Given the description of an element on the screen output the (x, y) to click on. 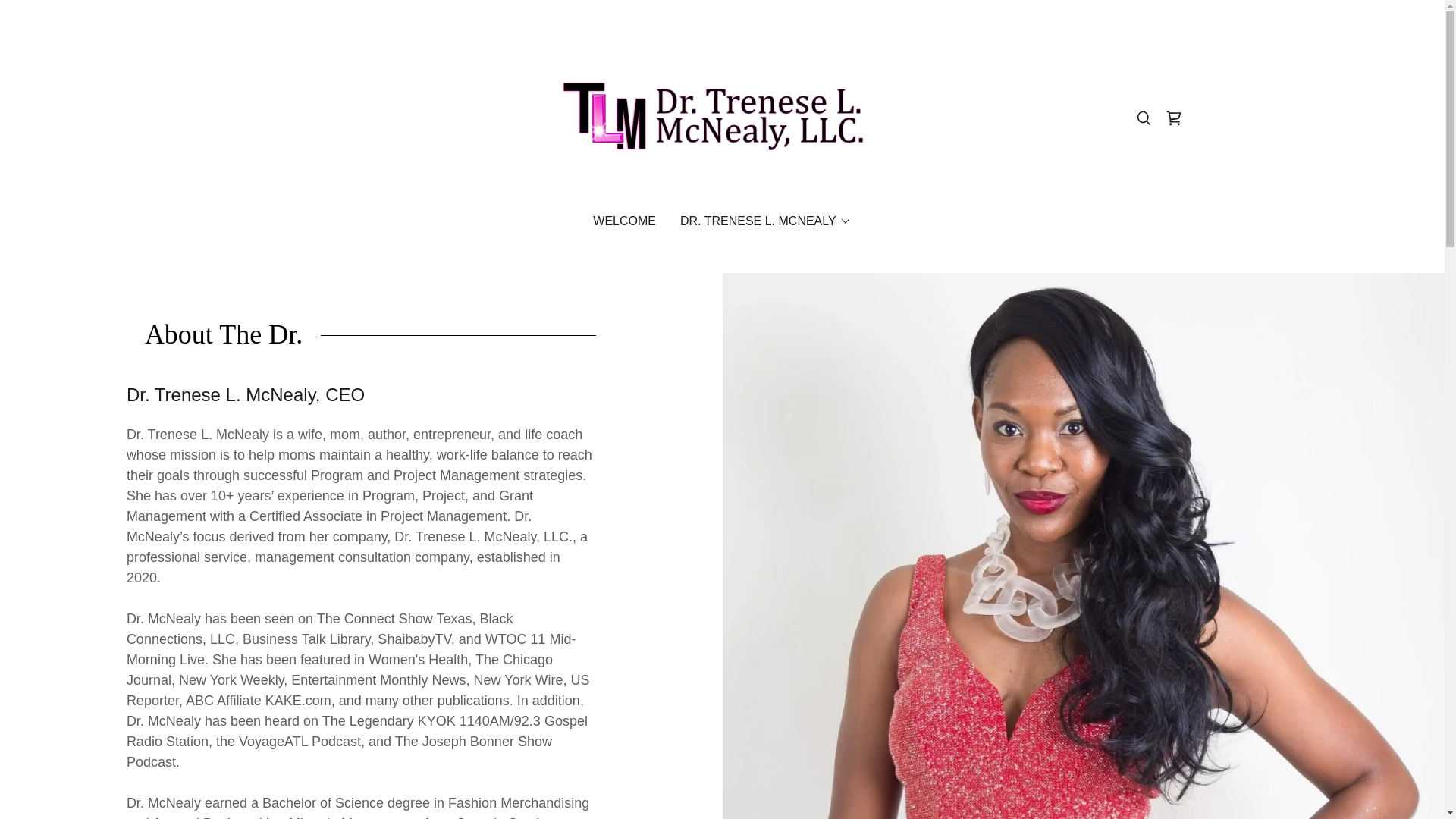
DR. TRENESE L. MCNEALY (765, 221)
Dr. Trenese L. Gordon McNealy (722, 117)
WELCOME (624, 221)
